Given the description of an element on the screen output the (x, y) to click on. 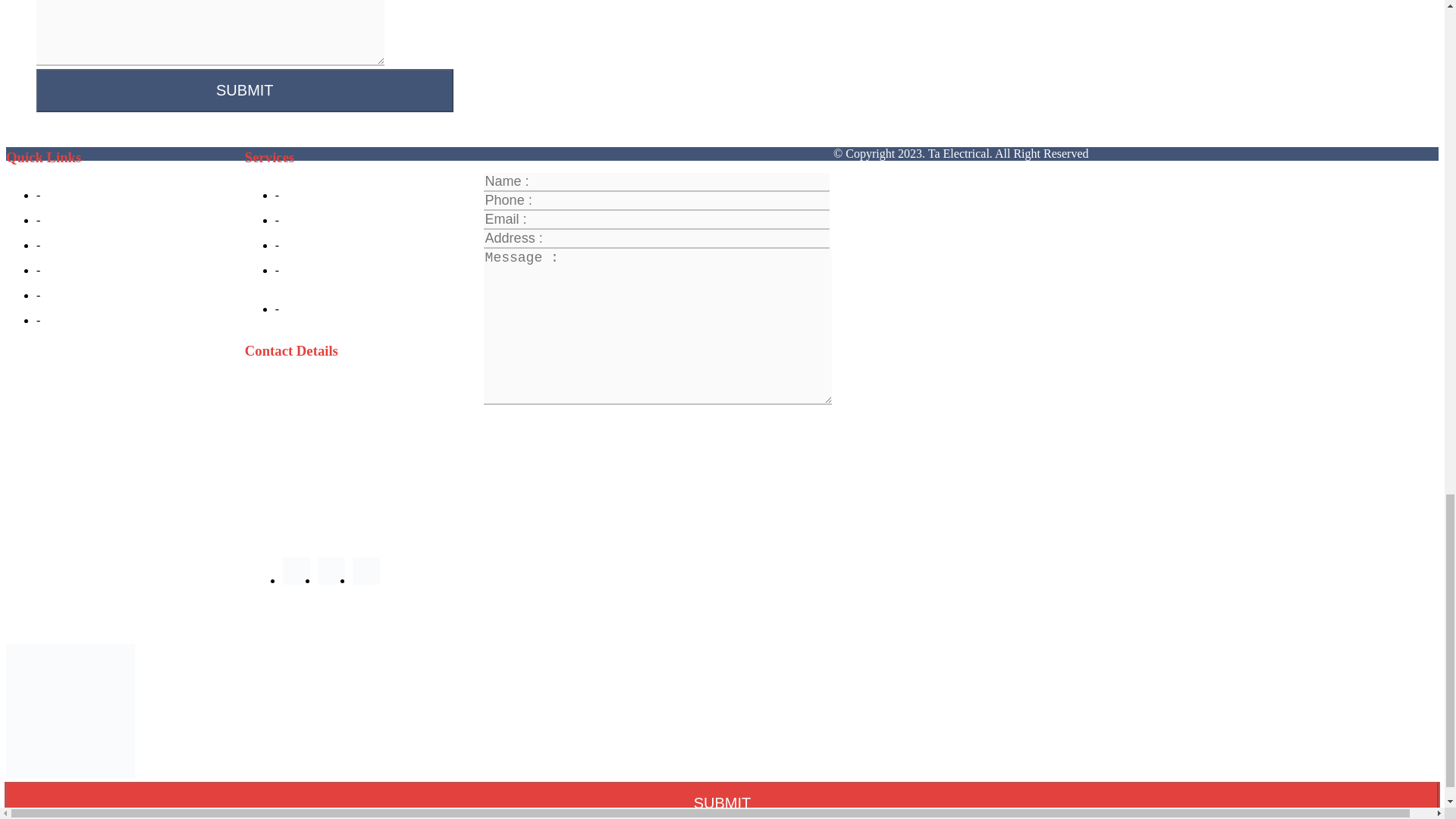
SUBMIT (244, 90)
Residential (313, 195)
Home (62, 195)
Careers (66, 295)
Contact Us (74, 319)
About us (69, 219)
Our Work (72, 245)
Blog (59, 269)
SUBMIT (244, 90)
